Given the description of an element on the screen output the (x, y) to click on. 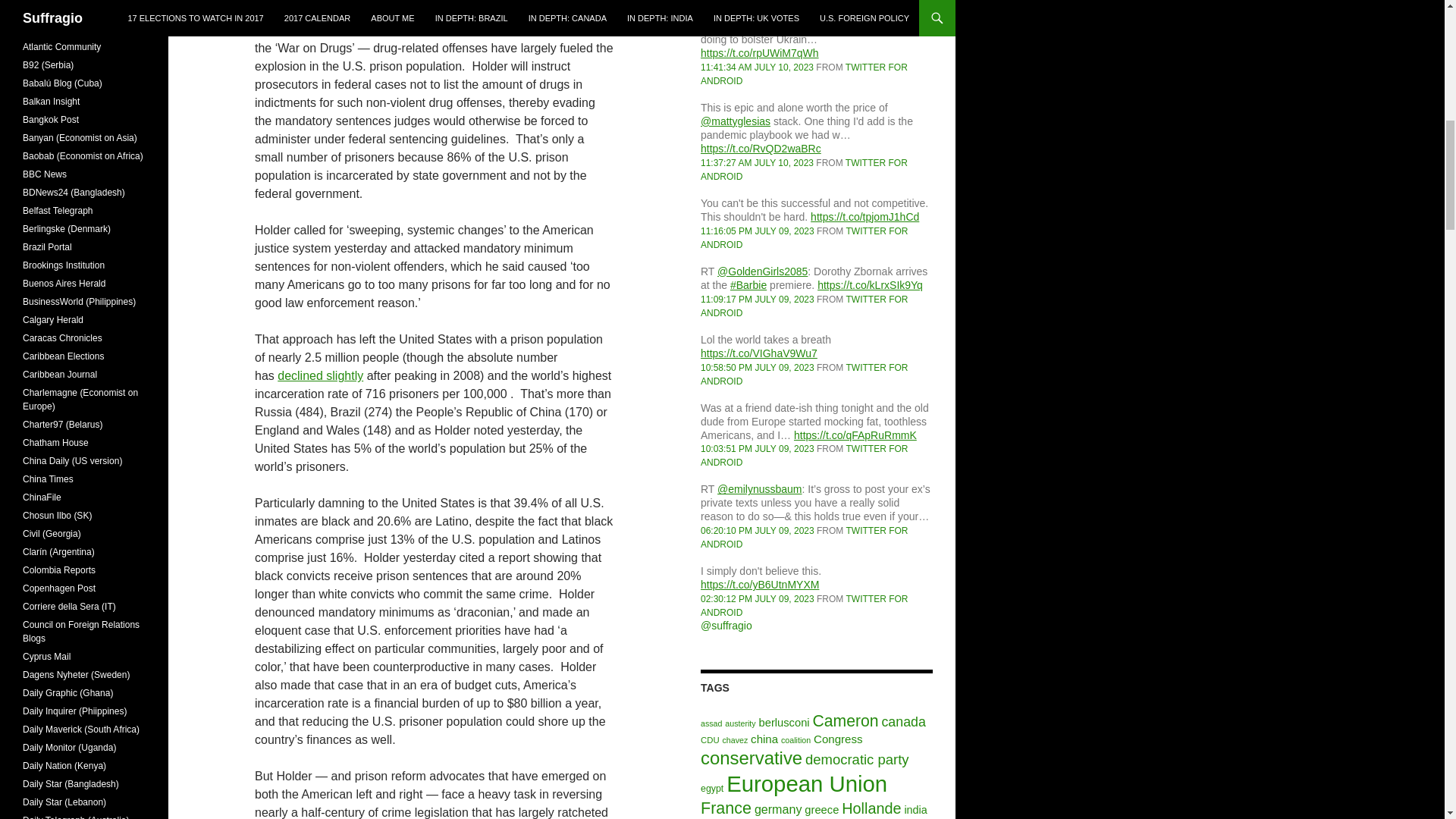
declined slightly (320, 375)
